Given the description of an element on the screen output the (x, y) to click on. 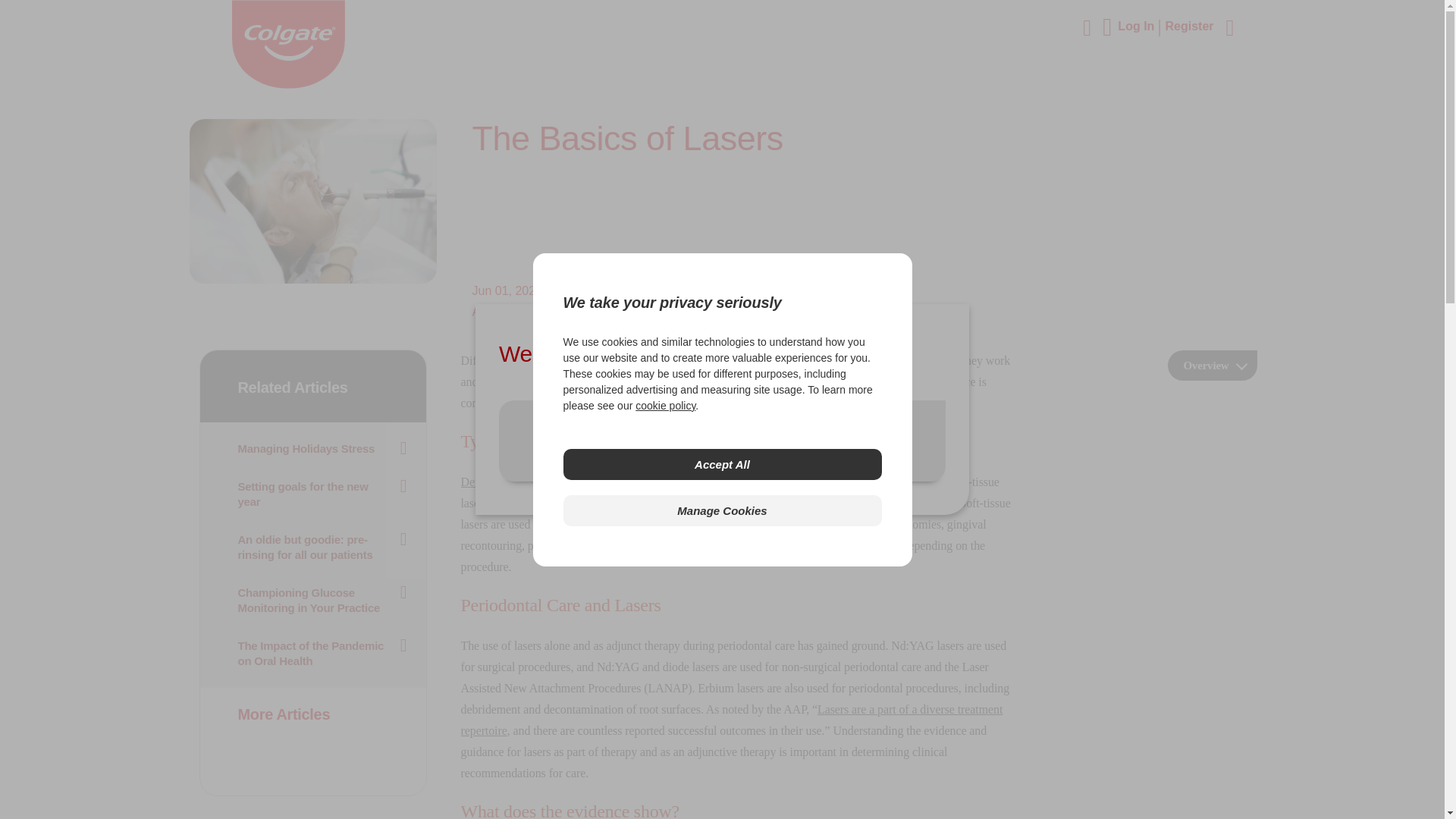
Register (1188, 25)
Accept All (721, 463)
home (288, 83)
Colgate Logo (288, 44)
Manage Cookies (721, 510)
Log In (1141, 25)
cookie policy (664, 404)
